Given the description of an element on the screen output the (x, y) to click on. 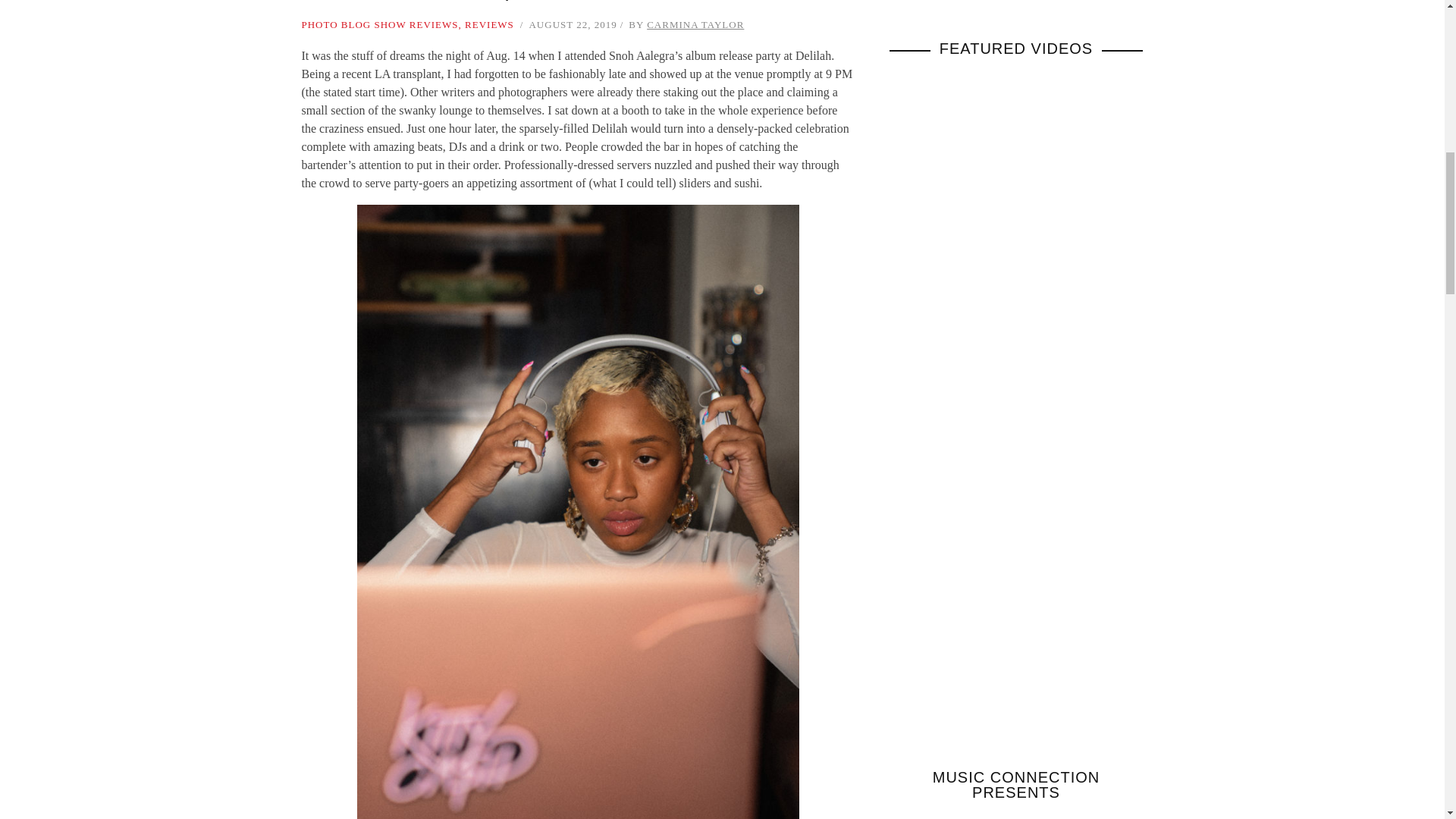
3rd party ad content (1002, 2)
YouTube video player (1015, 429)
YouTube video player (1015, 196)
